Given the description of an element on the screen output the (x, y) to click on. 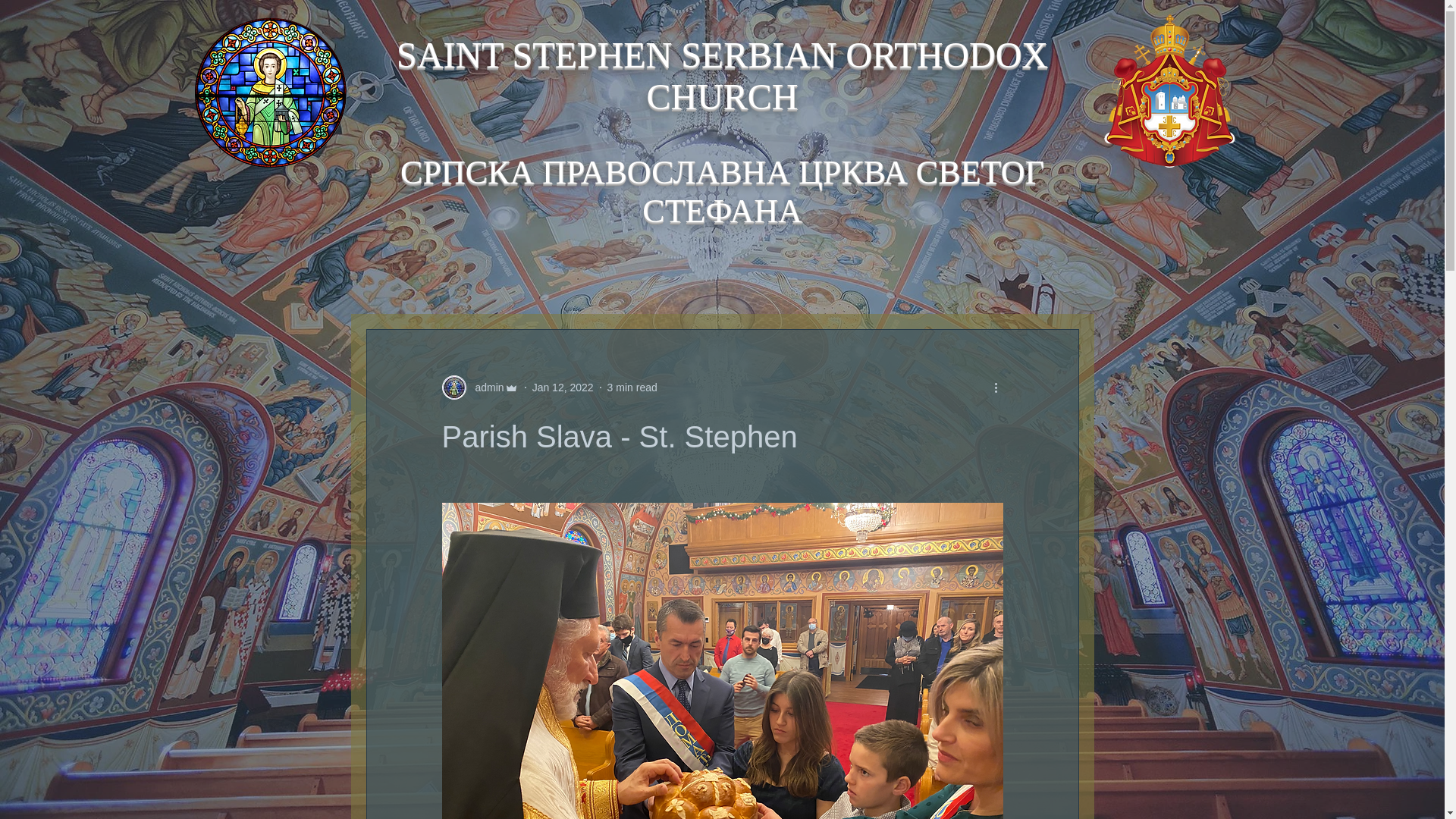
Jan 12, 2022 (563, 386)
admin (484, 386)
3 min read (632, 386)
